Given the description of an element on the screen output the (x, y) to click on. 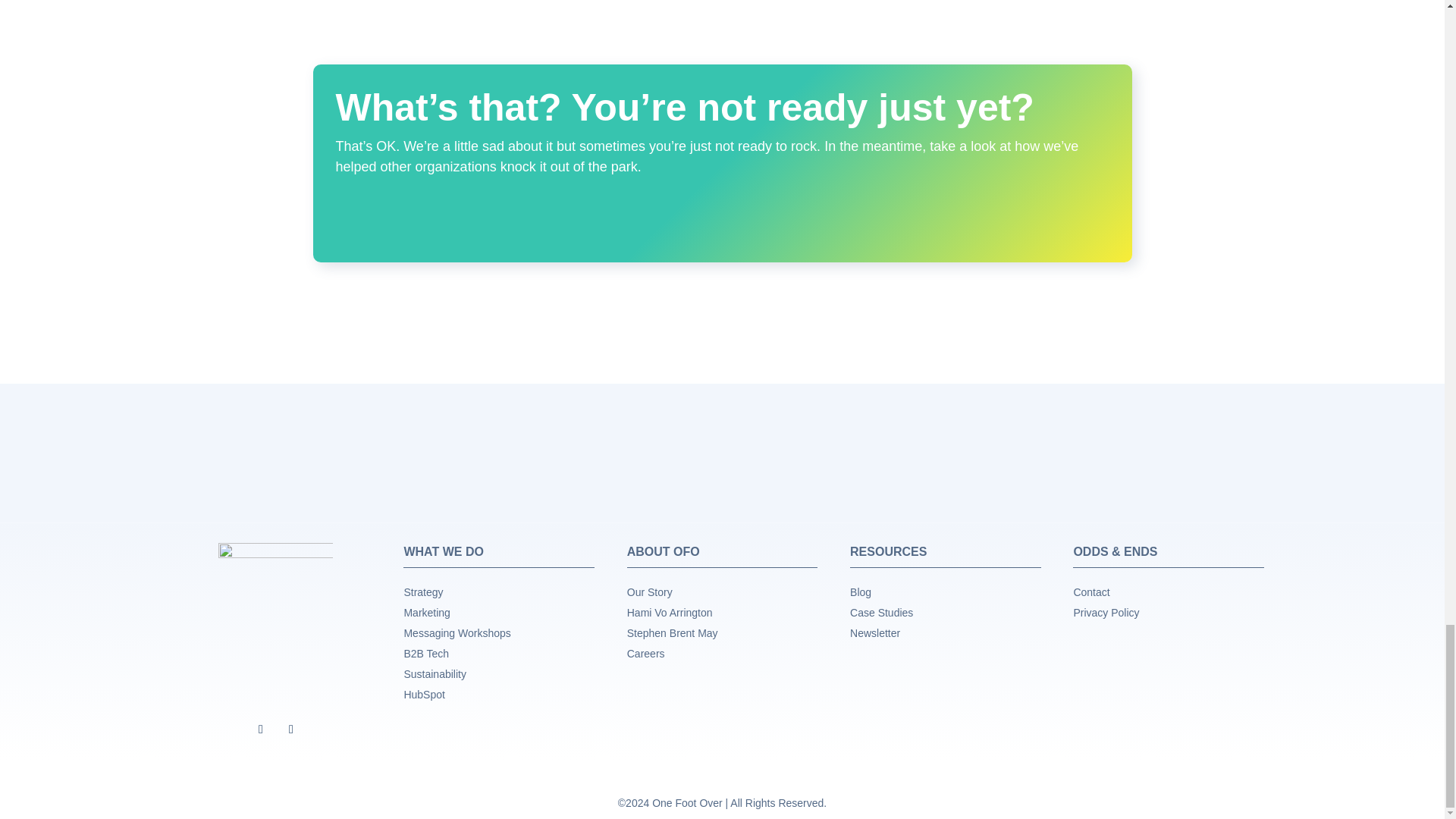
Follow on LinkedIn (260, 729)
Follow on Instagram (290, 729)
